Given the description of an element on the screen output the (x, y) to click on. 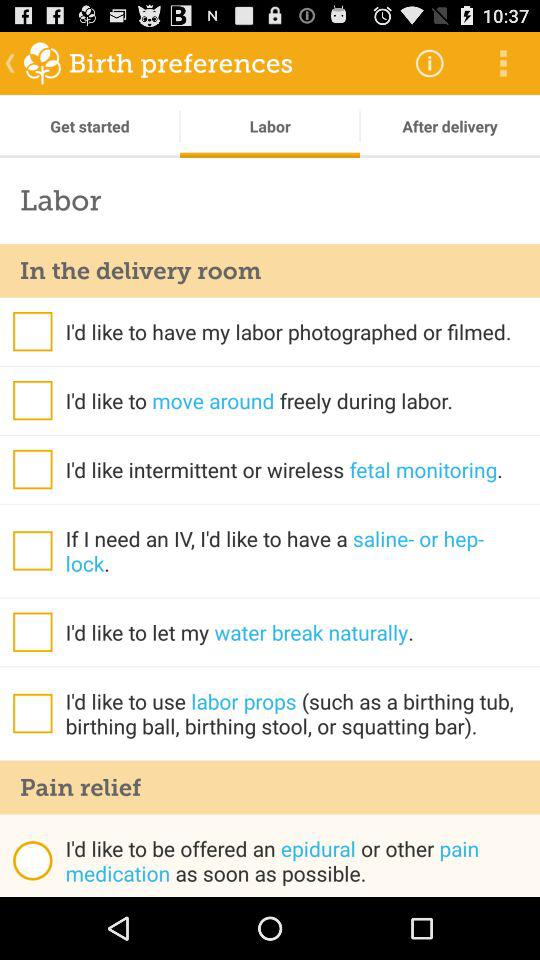
tap the app next to the labor icon (429, 62)
